Given the description of an element on the screen output the (x, y) to click on. 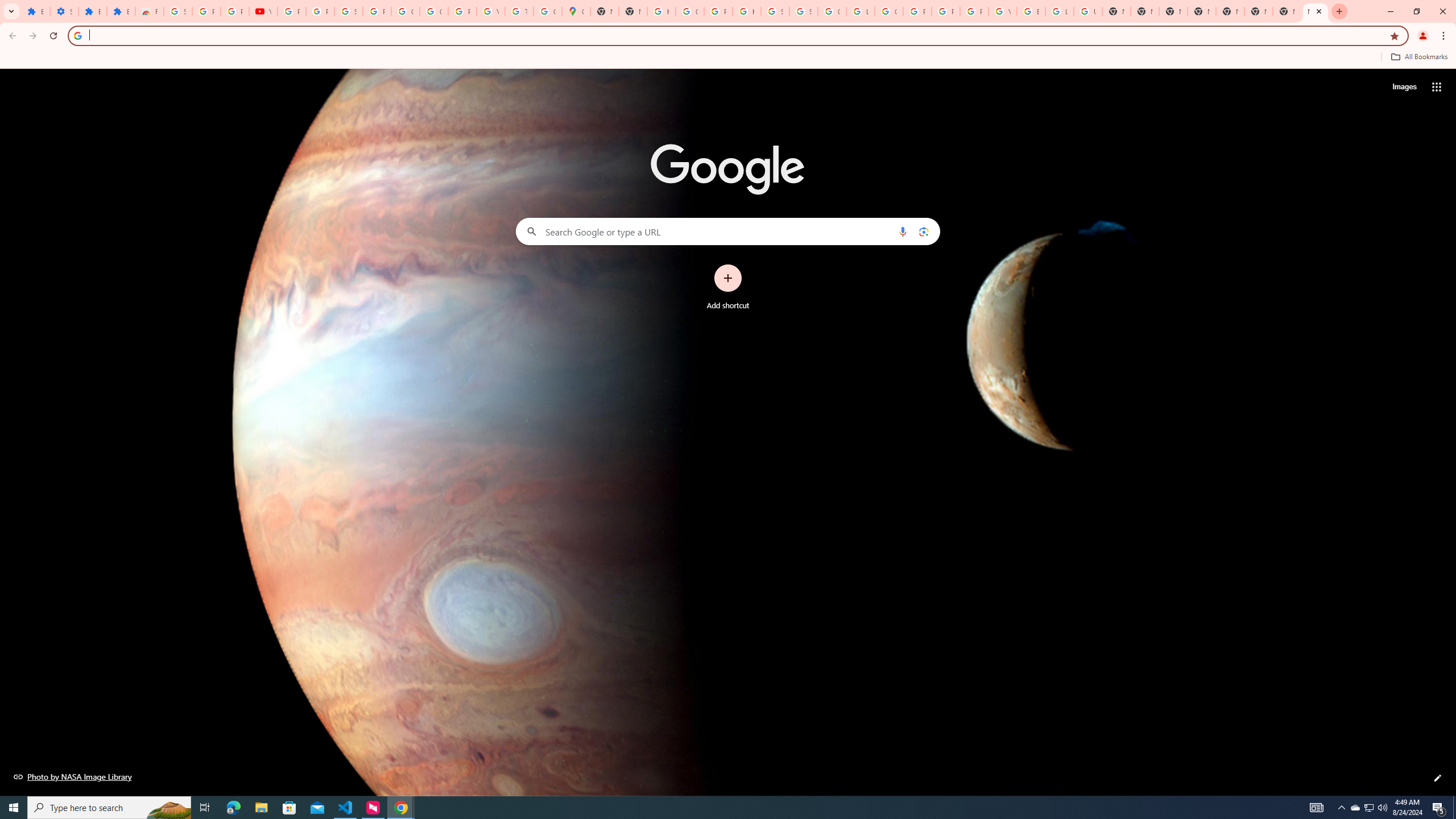
Extensions (120, 11)
